Given the description of an element on the screen output the (x, y) to click on. 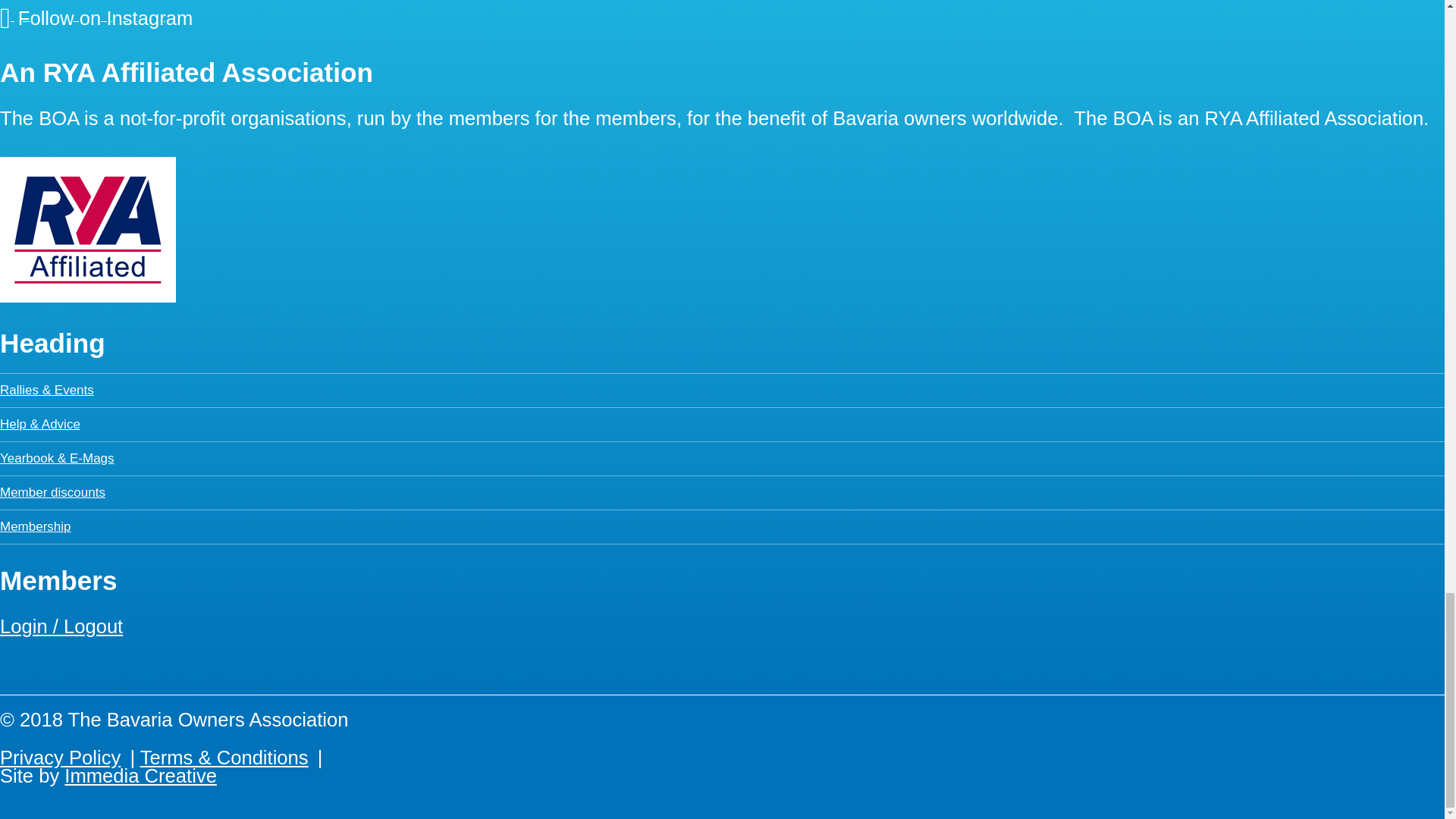
Follow on Instagram (96, 16)
Member discounts (52, 492)
Privacy Policy (60, 757)
Membership (35, 526)
